Given the description of an element on the screen output the (x, y) to click on. 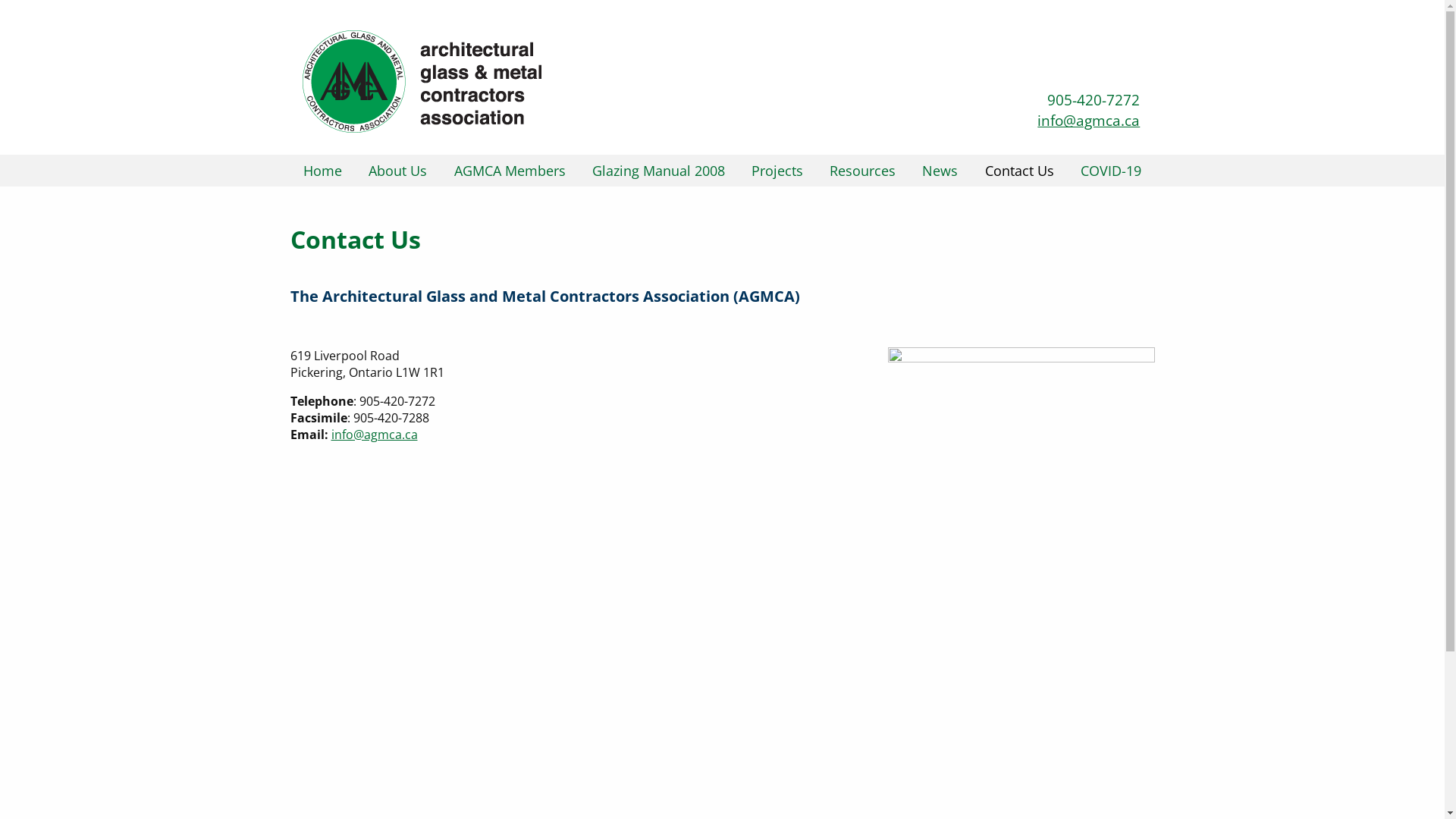
Projects Element type: text (776, 170)
News Element type: text (940, 170)
Resources Element type: text (862, 170)
Home Element type: text (322, 170)
Contact Us Element type: text (1019, 170)
info@agmca.ca Element type: text (373, 434)
About Us Element type: text (398, 170)
info@agmca.ca Element type: text (1088, 119)
Glazing Manual 2008 Element type: text (658, 170)
COVID-19 Element type: text (1110, 170)
AGMCA Members Element type: text (509, 170)
